Given the description of an element on the screen output the (x, y) to click on. 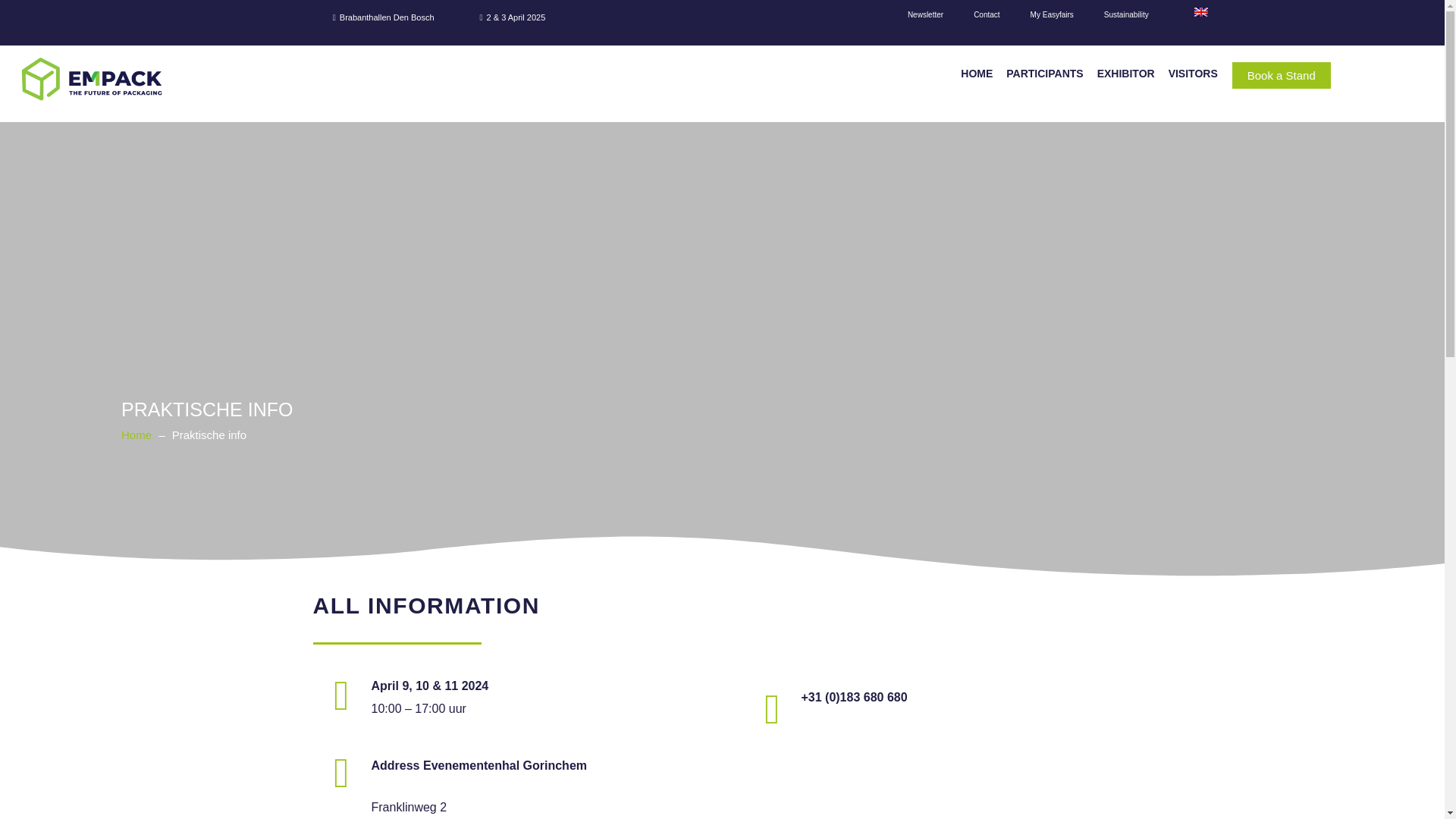
My Easyfairs (1051, 16)
Newsletter (925, 16)
PARTICIPANTS (1043, 73)
Brabanthallen Den Bosch (383, 17)
HOME (975, 73)
Contact (986, 16)
VISITORS (1192, 73)
EXHIBITOR (1125, 73)
Sustainability (1126, 16)
